Given the description of an element on the screen output the (x, y) to click on. 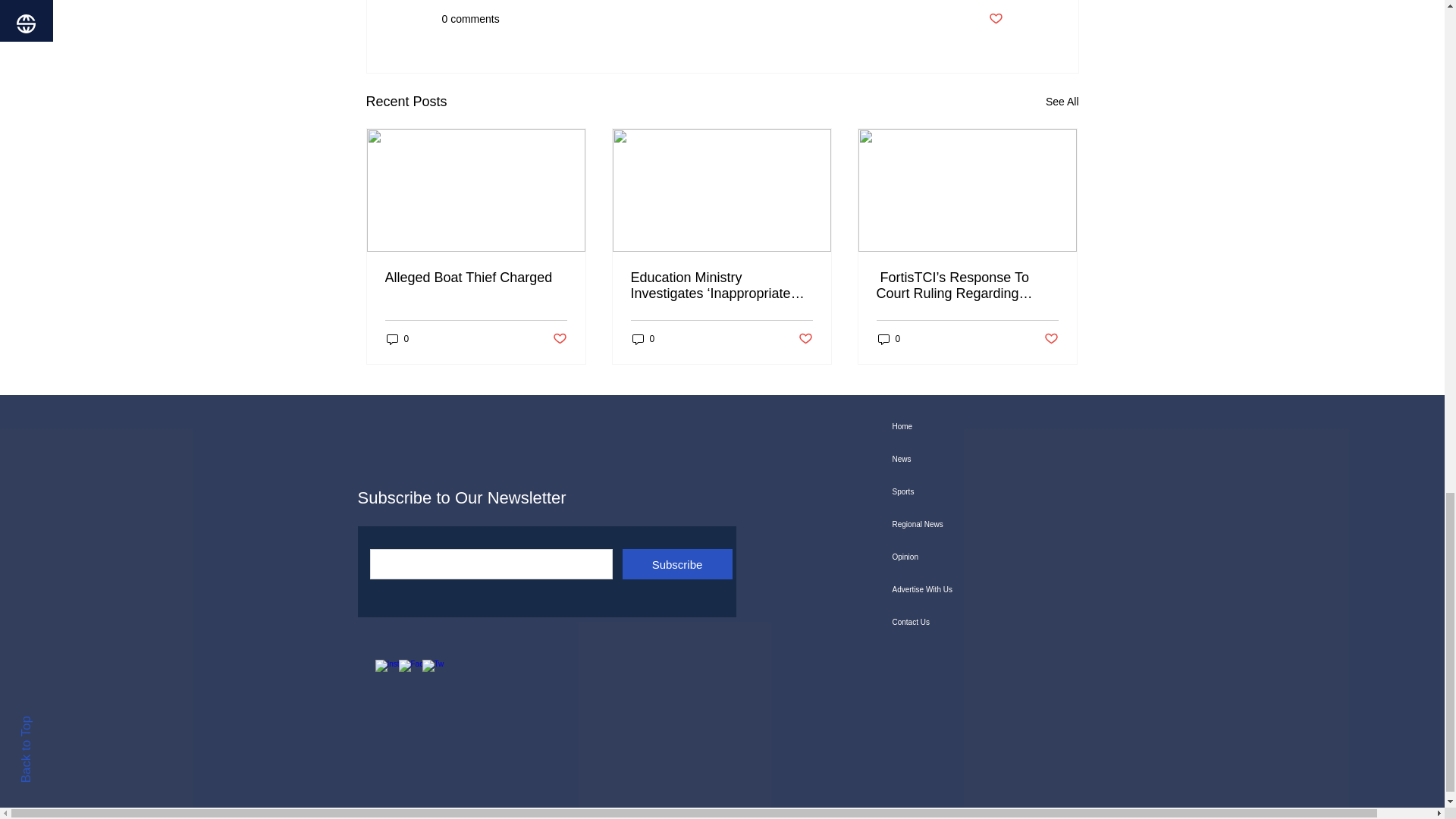
Alleged Boat Thief Charged (476, 277)
Post not marked as liked (558, 339)
See All (1061, 101)
0 (397, 338)
Post not marked as liked (995, 19)
